Given the description of an element on the screen output the (x, y) to click on. 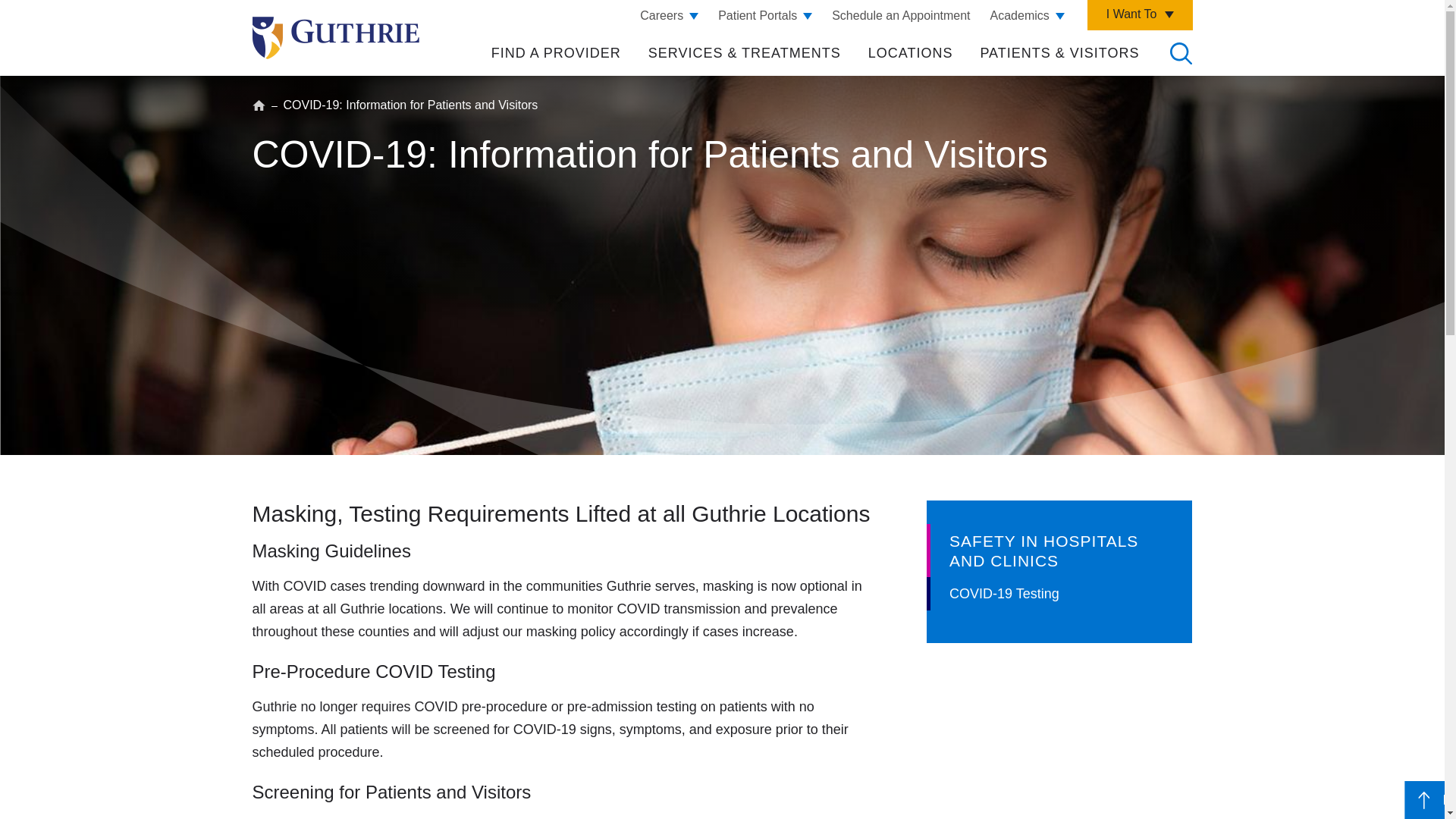
Careers (669, 15)
LOCATIONS (910, 52)
Schedule an Appointment (900, 15)
I Want To (1139, 15)
Academics (1027, 15)
FIND A PROVIDER (556, 52)
Patient Portals (764, 15)
Search (1180, 52)
Return to Guthrie homepage (335, 37)
